Given the description of an element on the screen output the (x, y) to click on. 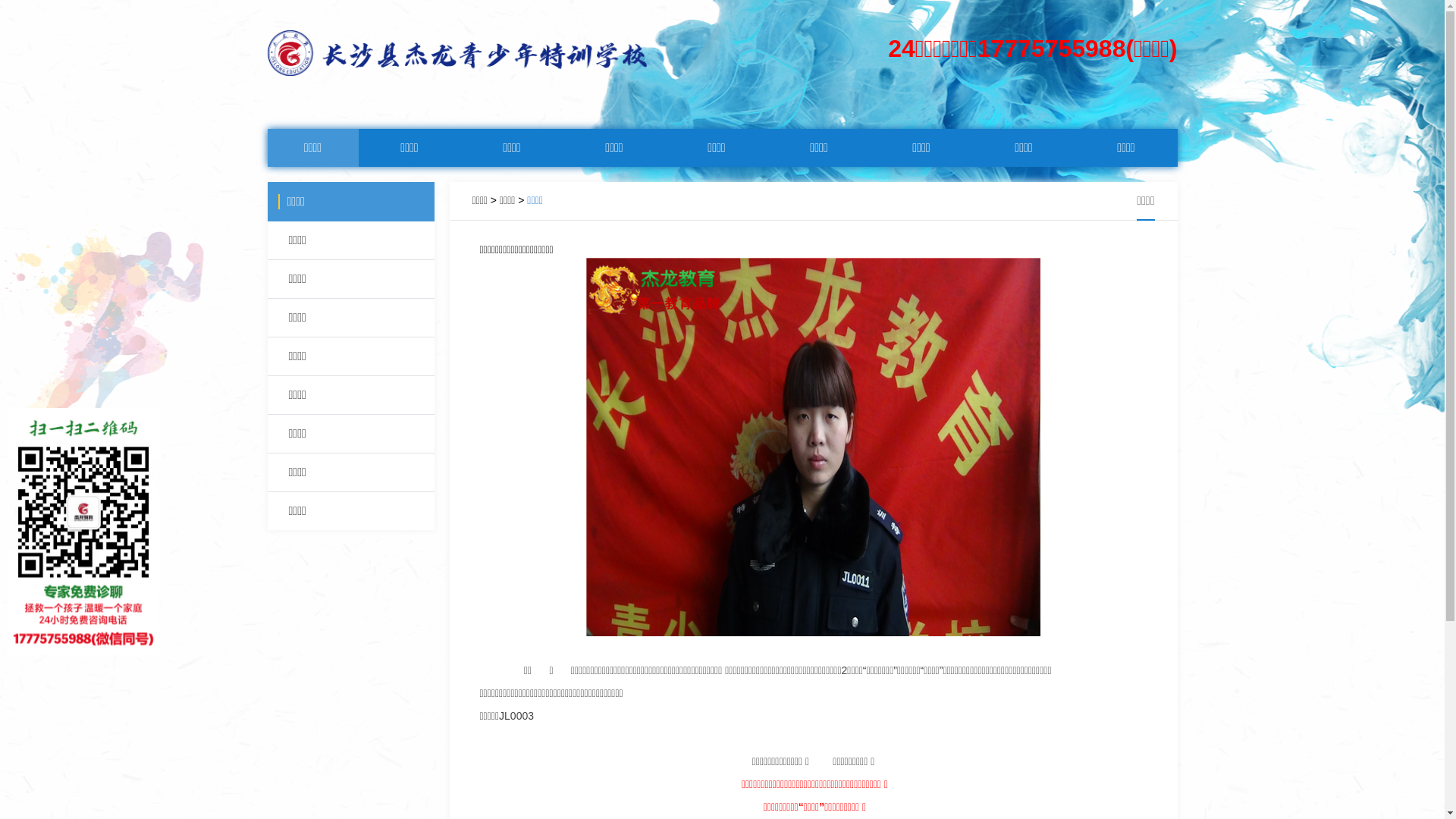
  Element type: text (480, 670)
  Element type: text (480, 647)
